Given the description of an element on the screen output the (x, y) to click on. 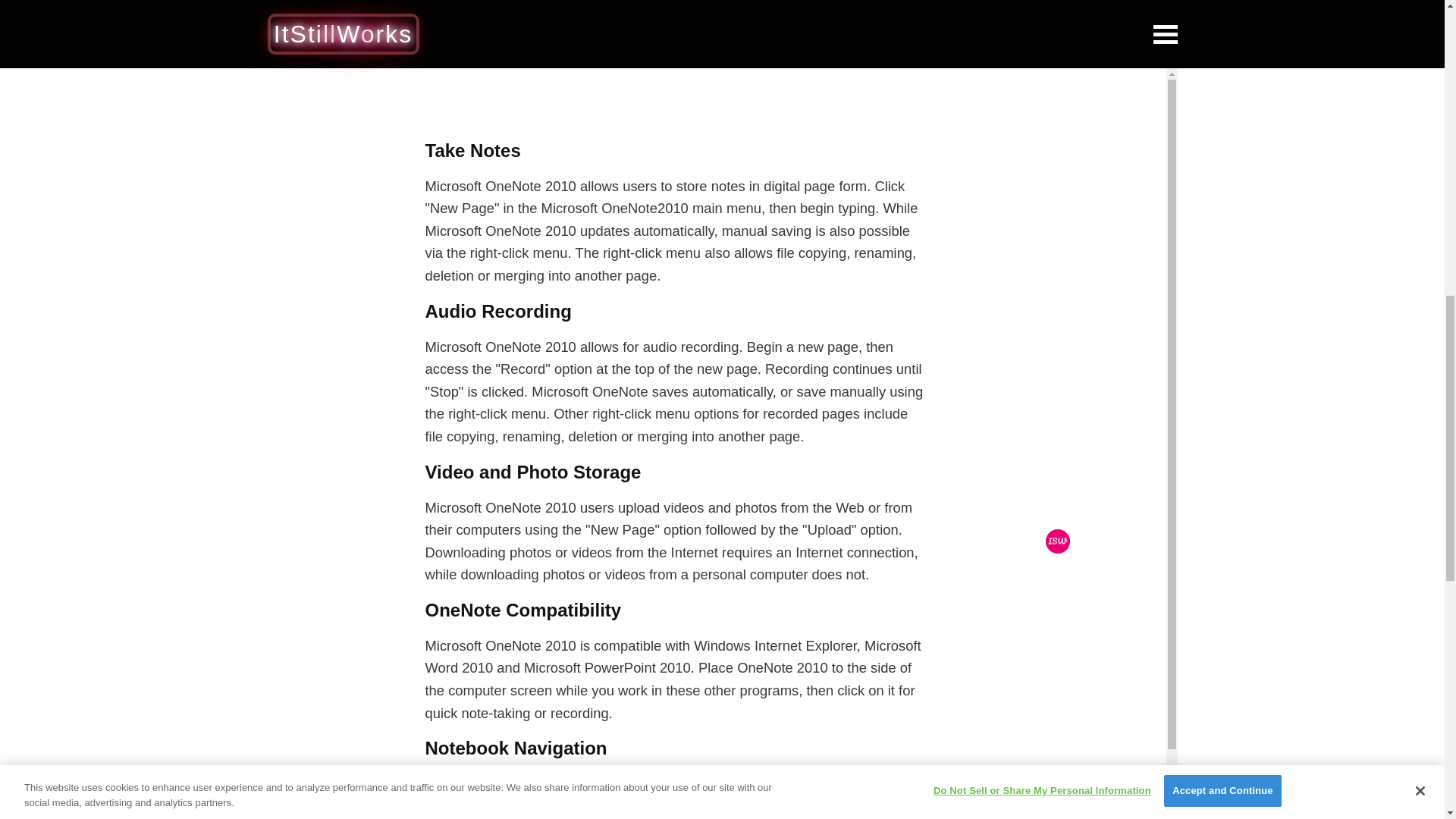
Advertisement (674, 59)
